Given the description of an element on the screen output the (x, y) to click on. 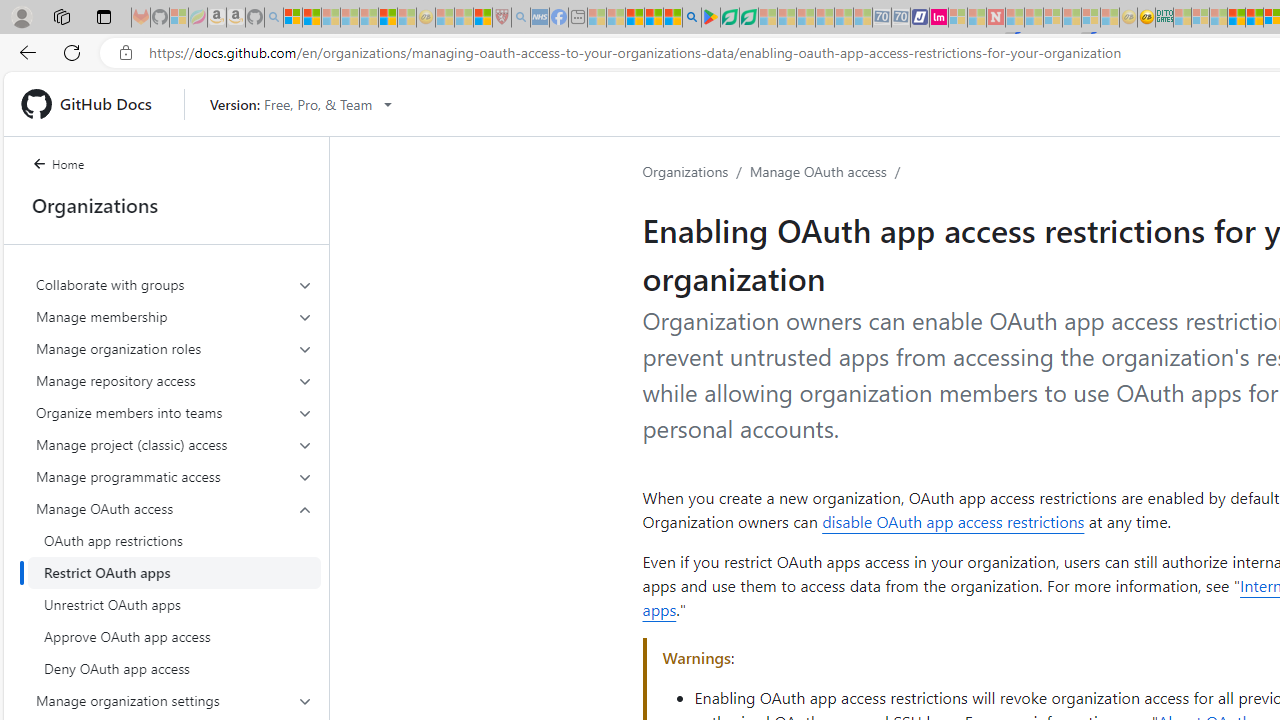
Manage membership (174, 316)
Manage OAuth access (174, 508)
Manage project (classic) access (174, 444)
Local - MSN (482, 17)
Robert H. Shmerling, MD - Harvard Health - Sleeping (501, 17)
Recipes - MSN - Sleeping (445, 17)
Cheap Car Rentals - Save70.com - Sleeping (881, 17)
GitHub Docs (93, 103)
Manage organization settings (174, 700)
Deny OAuth app access (174, 668)
